Given the description of an element on the screen output the (x, y) to click on. 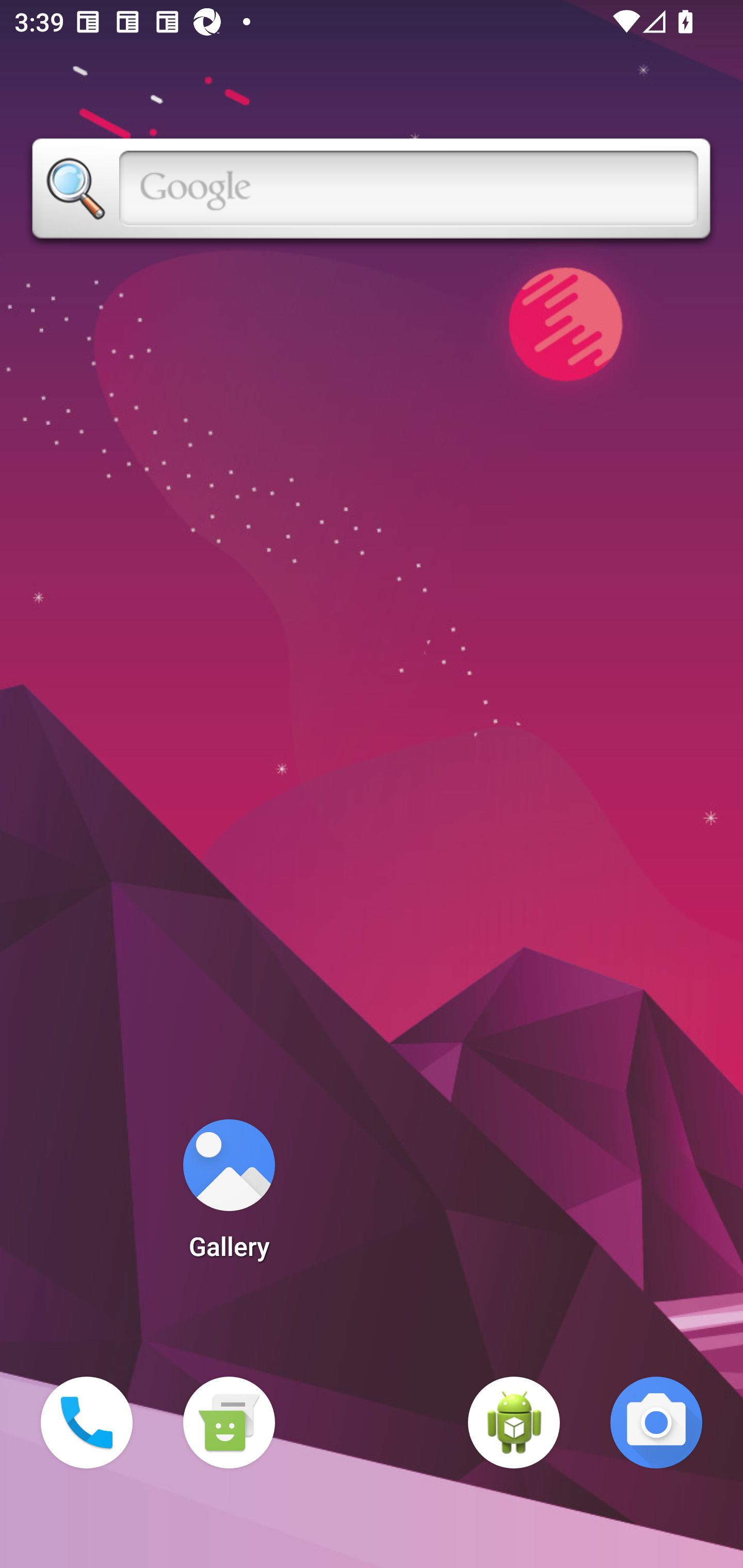
Gallery (228, 1195)
Phone (86, 1422)
Messaging (228, 1422)
WebView Browser Tester (513, 1422)
Camera (656, 1422)
